Given the description of an element on the screen output the (x, y) to click on. 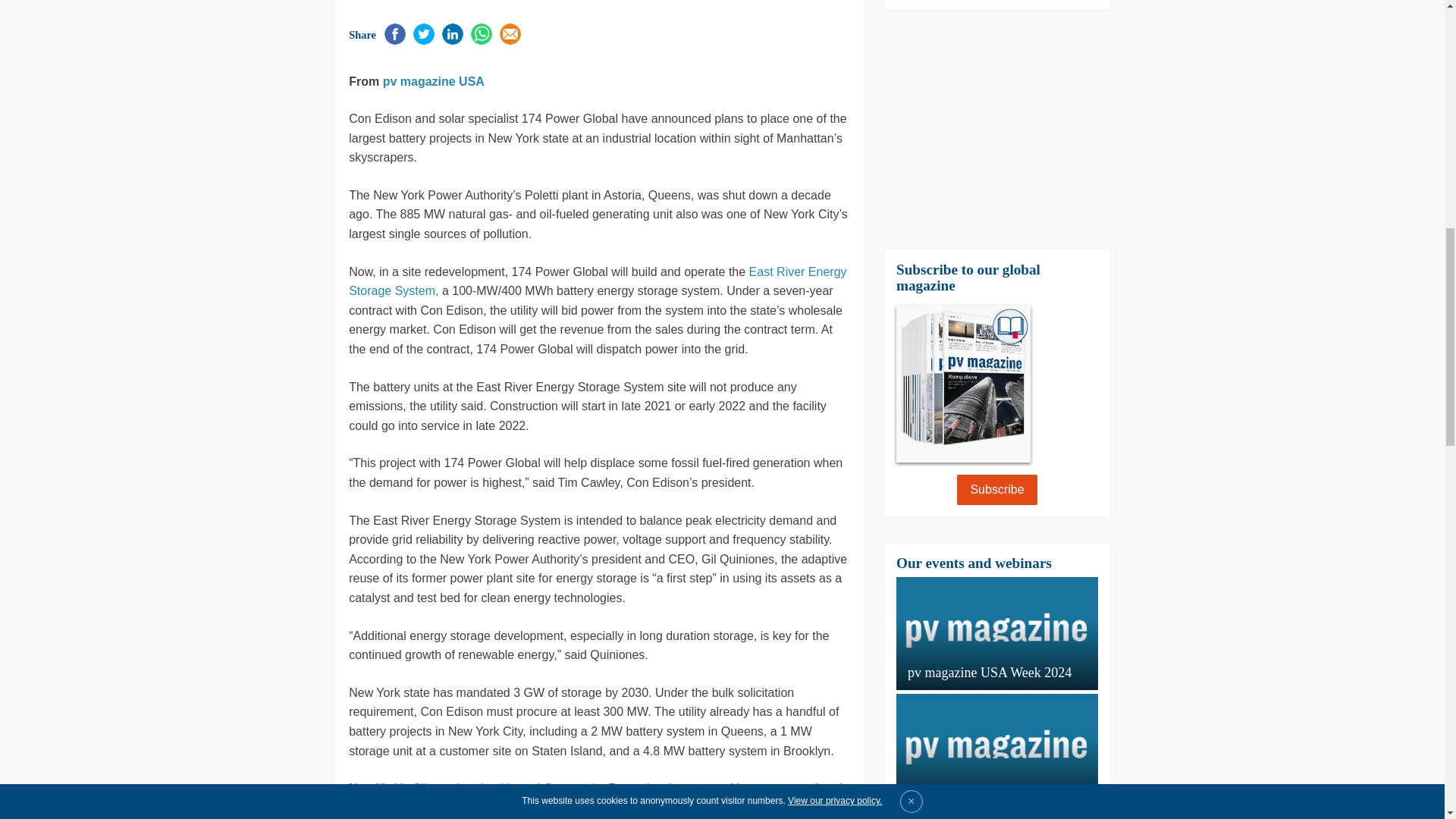
3rd party ad content (996, 129)
